Given the description of an element on the screen output the (x, y) to click on. 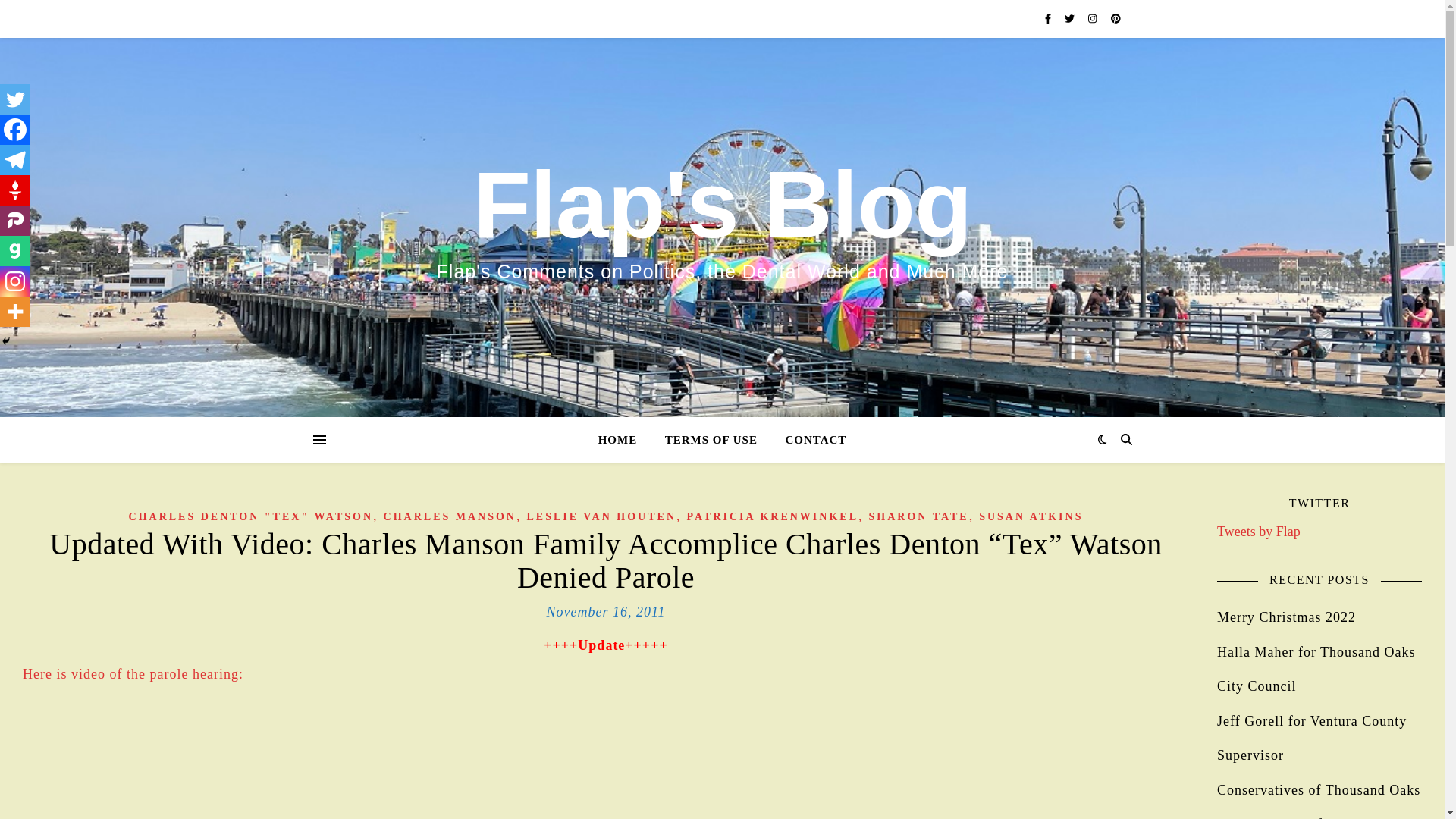
LESLIE VAN HOUTEN (601, 516)
Instagram (15, 281)
Hide (5, 340)
Parler (15, 220)
Gab (15, 250)
Facebook (15, 129)
CHARLES DENTON "TEX" WATSON (251, 516)
PATRICIA KRENWINKEL (773, 516)
CHARLES MANSON (450, 516)
Here is video of the parole hearing: (133, 673)
CONTACT (809, 439)
Telegram (15, 159)
Twitter (15, 99)
Gettr (15, 190)
TERMS OF USE (711, 439)
